Given the description of an element on the screen output the (x, y) to click on. 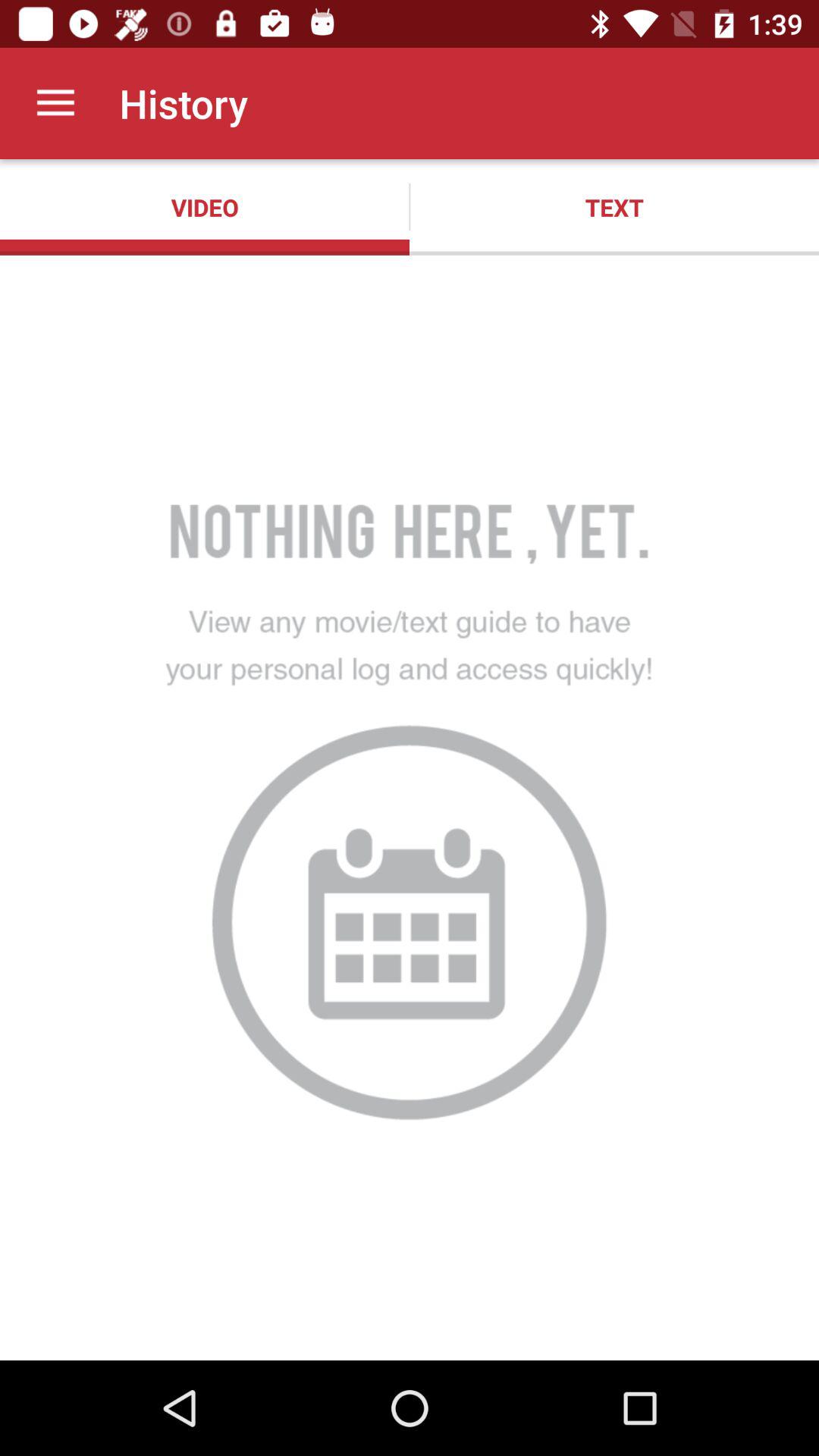
turn on the item below the video app (409, 807)
